Given the description of an element on the screen output the (x, y) to click on. 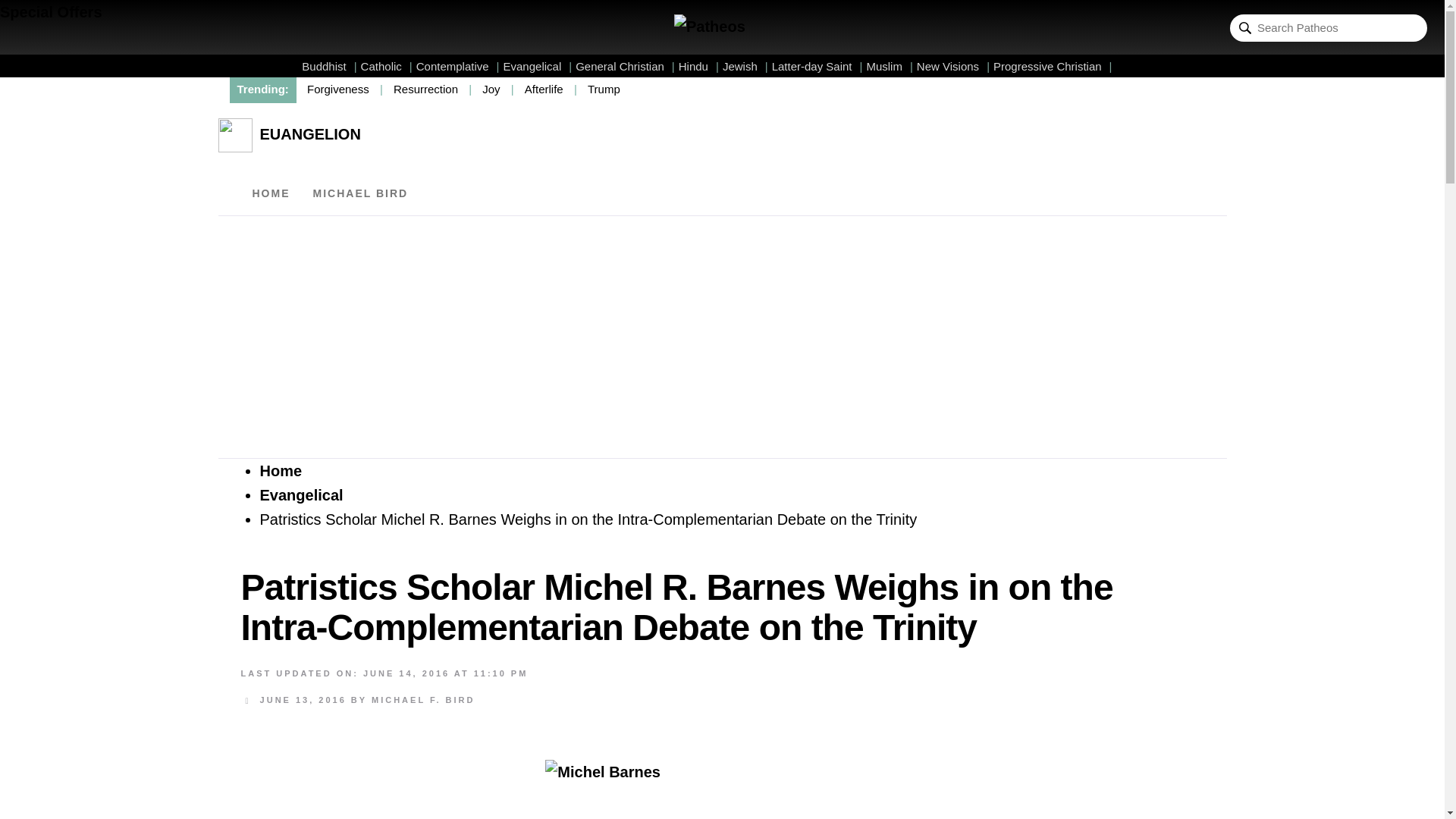
Catholic (386, 65)
New Visions (953, 65)
Special Offers (50, 12)
Latter-day Saint (817, 65)
Progressive Christian (1052, 65)
Muslim (889, 65)
Evangelical (537, 65)
Buddhist (328, 65)
General Christian (625, 65)
Hindu (698, 65)
